Given the description of an element on the screen output the (x, y) to click on. 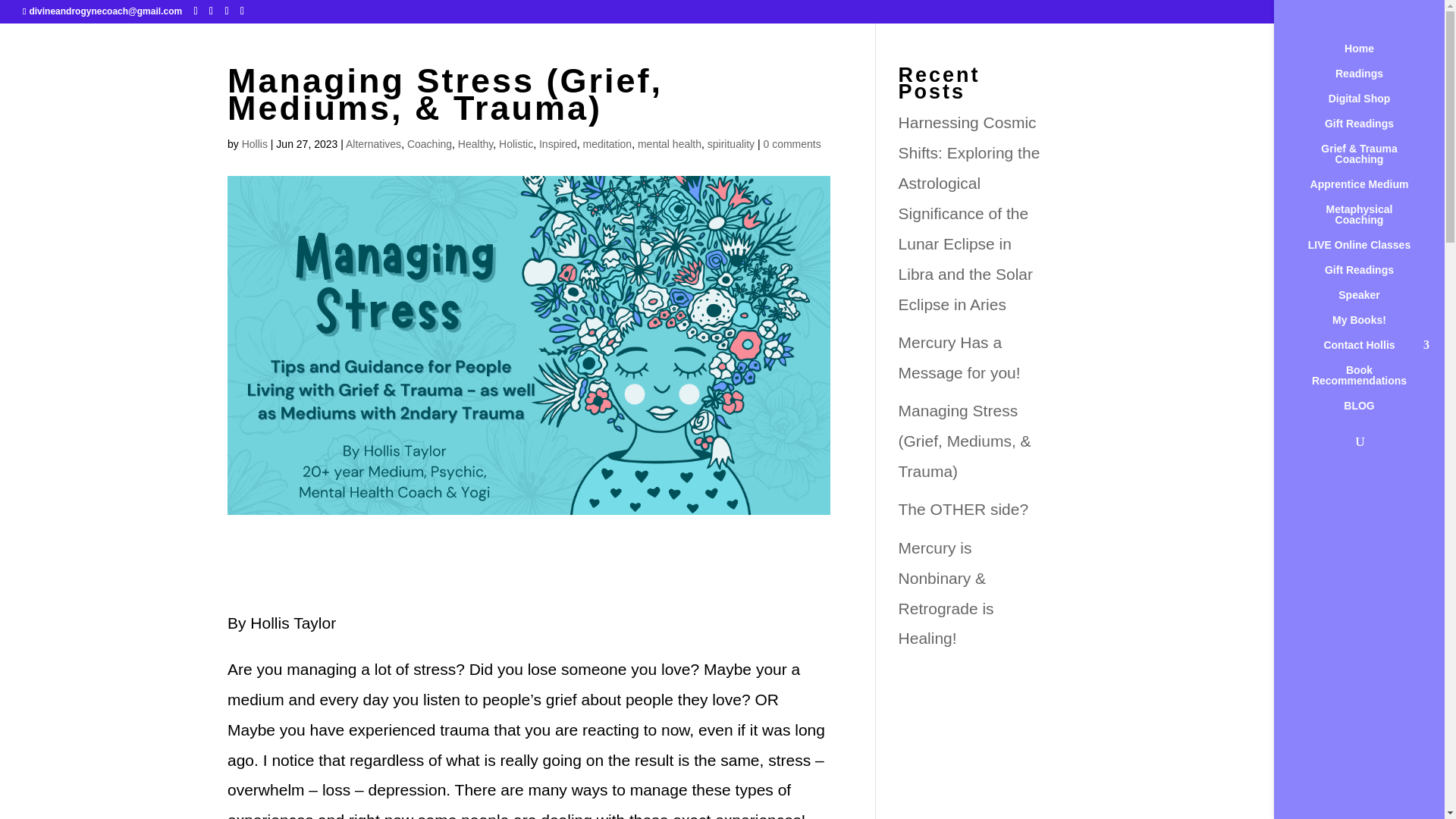
Posts by Hollis (254, 143)
meditation (607, 143)
Coaching (429, 143)
Inspired (557, 143)
spirituality (730, 143)
Holistic (515, 143)
mental health (669, 143)
0 comments (791, 143)
Hollis (254, 143)
Alternatives (373, 143)
